Given the description of an element on the screen output the (x, y) to click on. 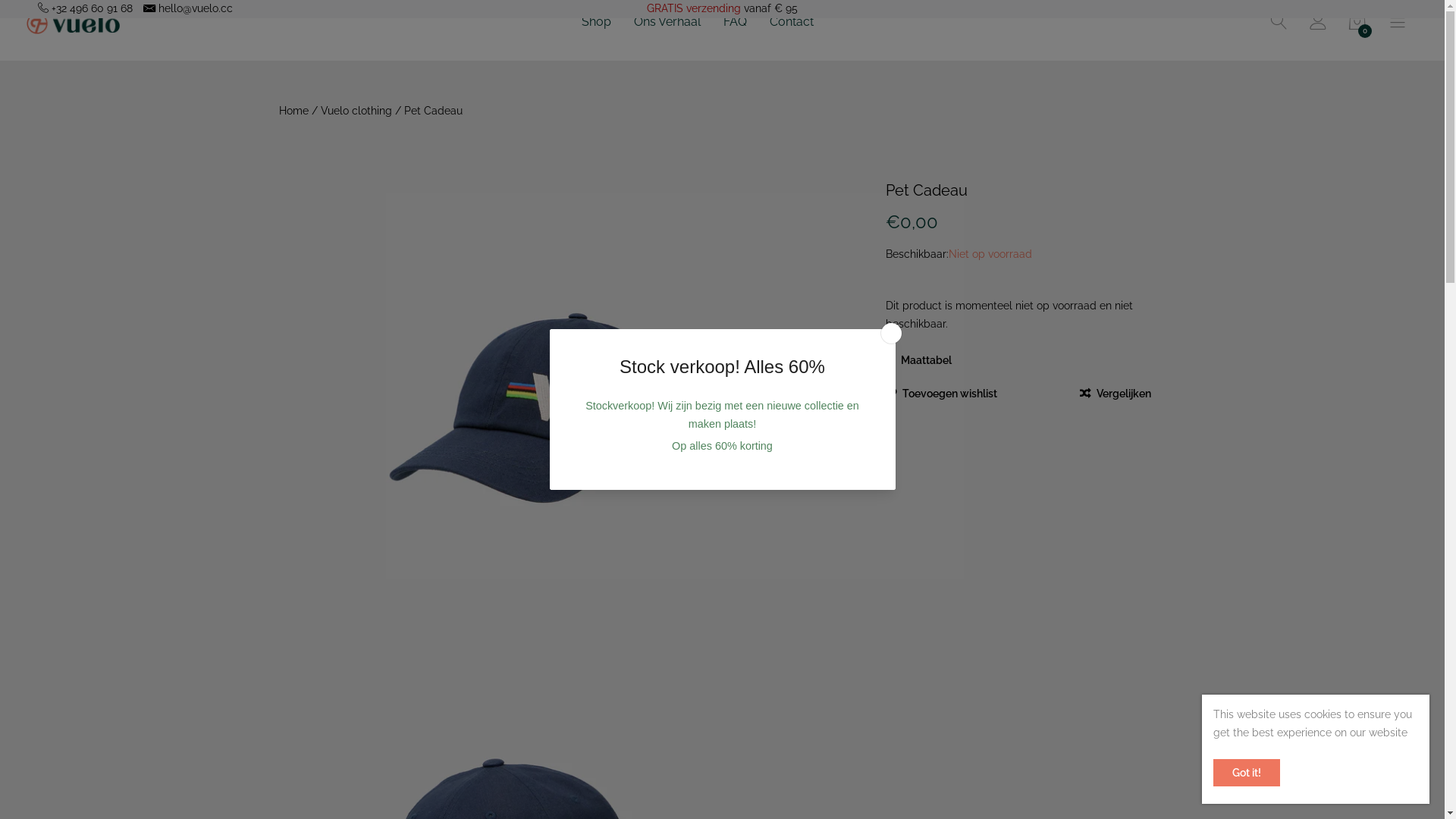
Toevoegen wishlist Element type: text (941, 393)
0 Element type: text (1357, 24)
Ons Verhaal Element type: text (666, 21)
Contact Element type: text (791, 21)
Got it! Element type: text (1246, 772)
Vuelo clothing Element type: text (355, 110)
Vergelijken Element type: text (1115, 393)
Maattabel Element type: text (925, 360)
Home Element type: text (295, 110)
FAQ Element type: text (734, 21)
hello@vuelo.cc Element type: text (195, 8)
Shop Element type: text (596, 21)
